Given the description of an element on the screen output the (x, y) to click on. 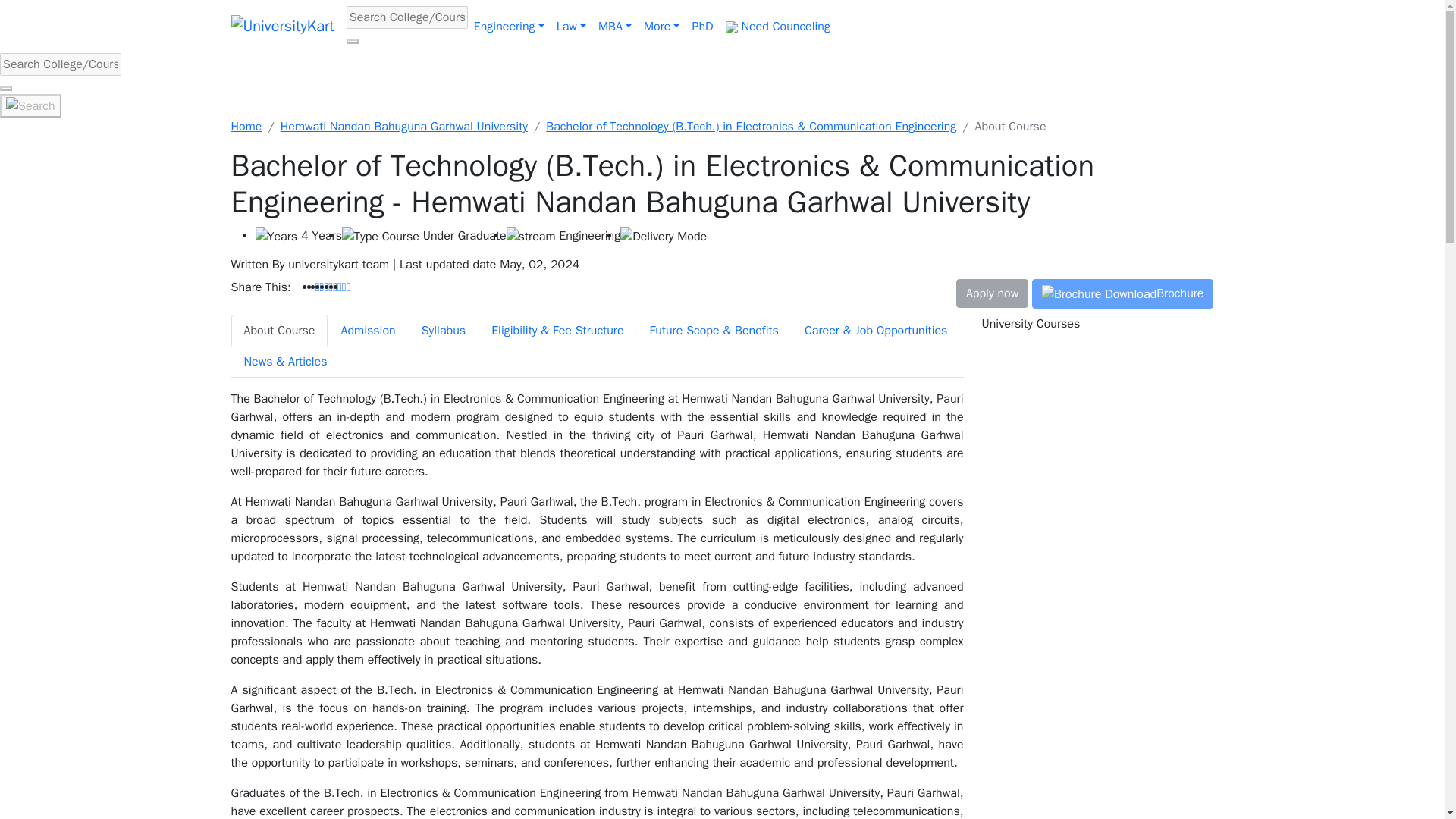
Engineering (508, 26)
